Given the description of an element on the screen output the (x, y) to click on. 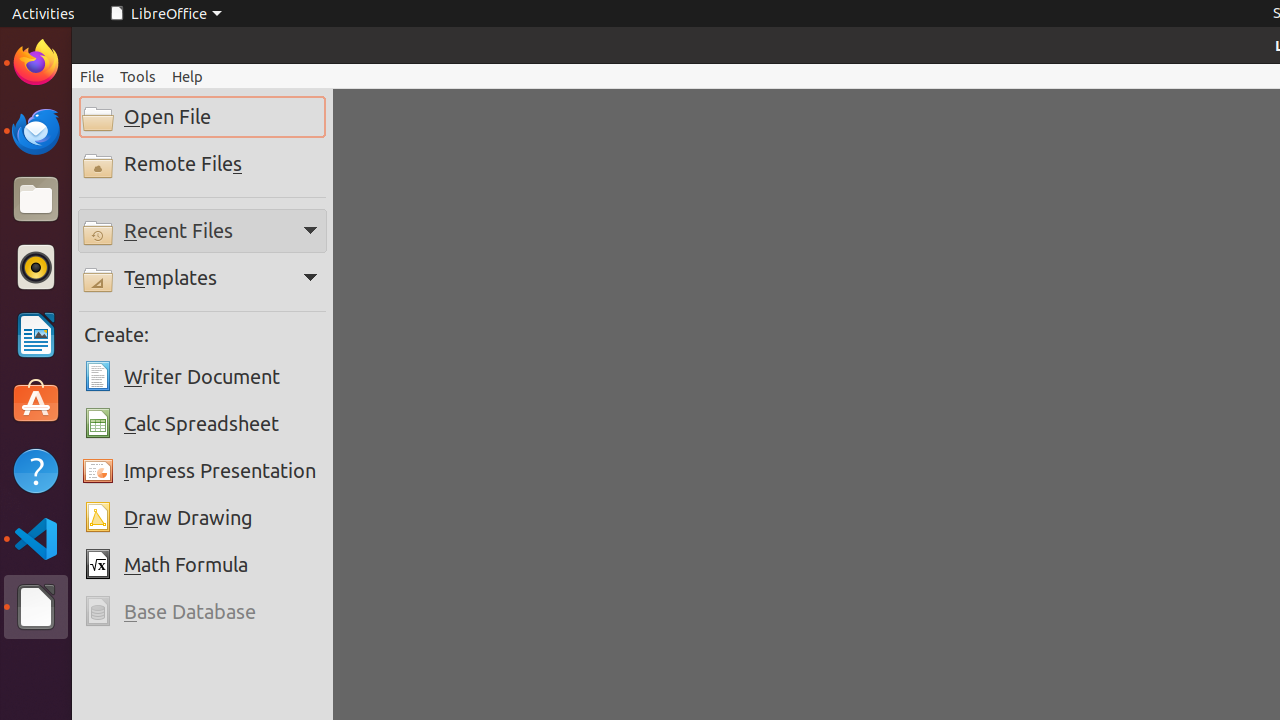
Writer Document Element type: push-button (202, 377)
Draw Drawing Element type: push-button (202, 518)
Recent Files Element type: push-button (202, 230)
